Given the description of an element on the screen output the (x, y) to click on. 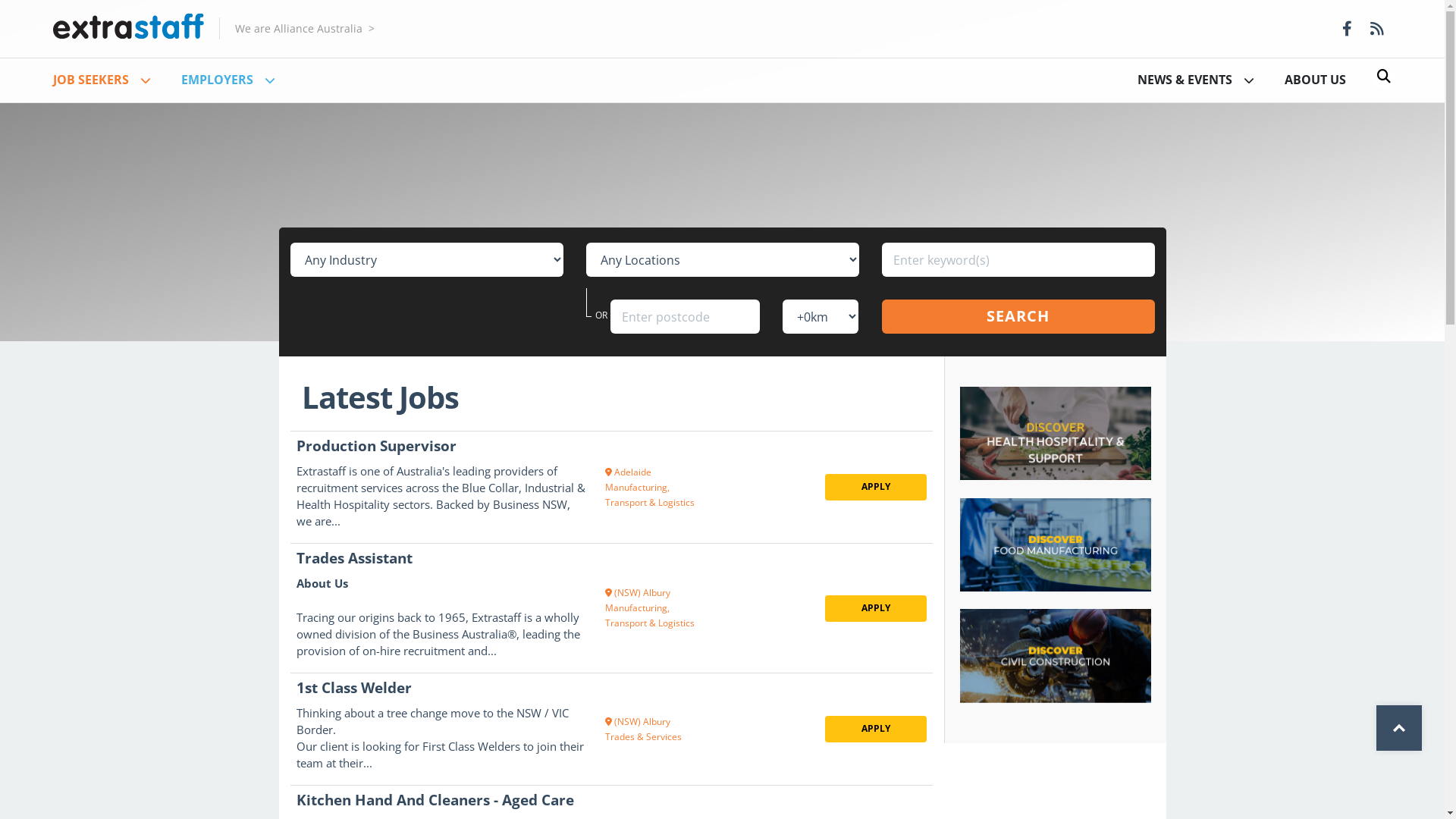
JOB SEEKERS Element type: text (101, 80)
APPLY Element type: text (875, 608)
We are Alliance Australia  > Element type: text (304, 28)
Adelaide Element type: text (628, 471)
SEARCH Element type: text (1017, 316)
Manufacturing, Transport & Logistics Element type: text (649, 494)
Top Element type: text (1398, 727)
Trades & Services Element type: text (643, 736)
EMPLOYERS Element type: text (227, 80)
APPLY Element type: text (875, 728)
Manufacturing, Transport & Logistics Element type: text (649, 615)
(NSW) Albury Element type: text (637, 721)
(NSW) Albury Element type: text (637, 592)
NEWS & EVENTS Element type: text (1195, 80)
ABOUT US Element type: text (1315, 80)
APPLY Element type: text (875, 486)
